Given the description of an element on the screen output the (x, y) to click on. 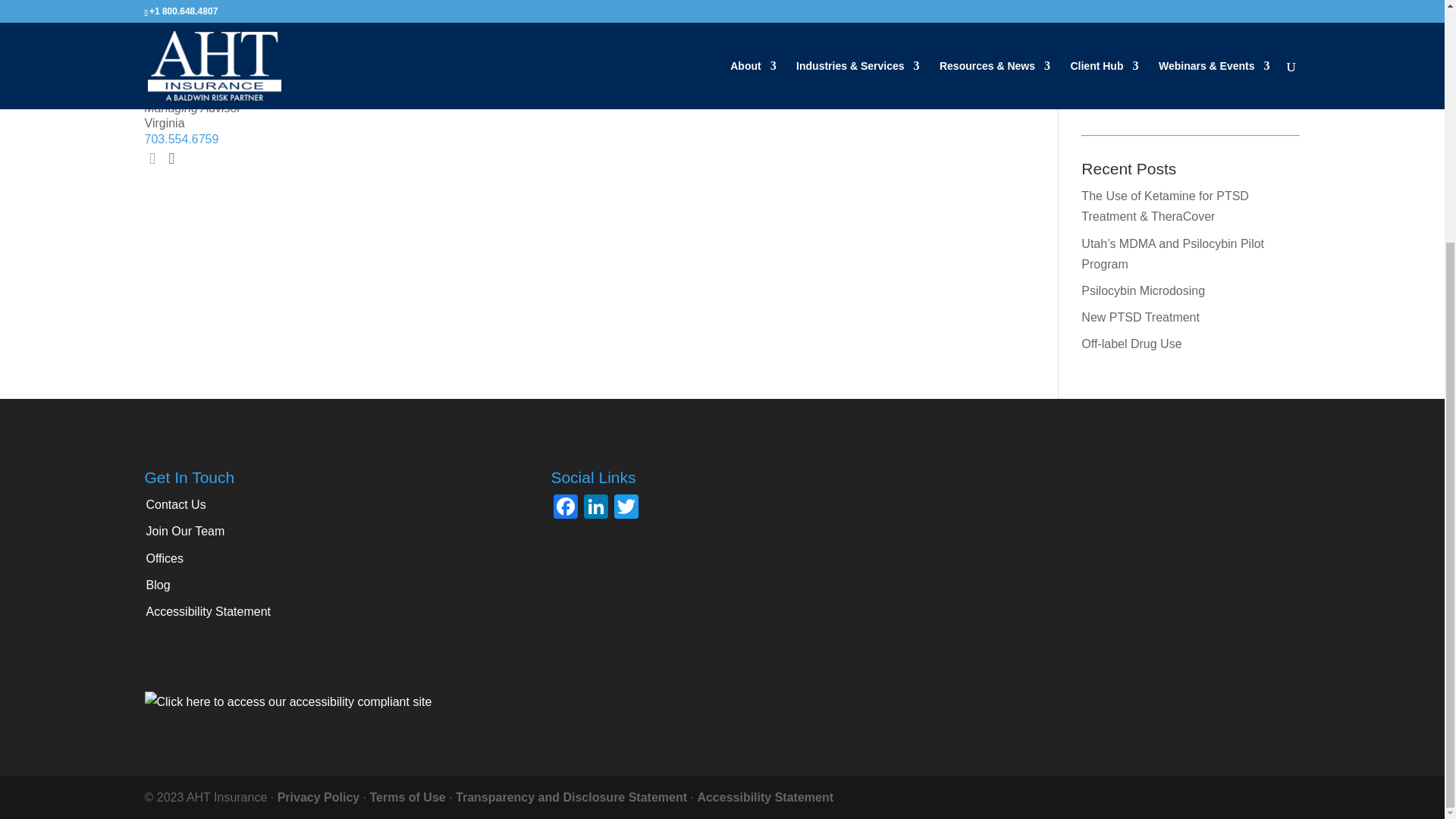
LinkedIn (1100, 64)
Facebook (1248, 95)
Twitter (1177, 95)
Facebook (1243, 64)
LinkedIn (595, 508)
Facebook (565, 508)
Accessibility compliant site (287, 701)
LinkedIn (1105, 95)
Twitter (1172, 64)
Twitter (626, 508)
